Given the description of an element on the screen output the (x, y) to click on. 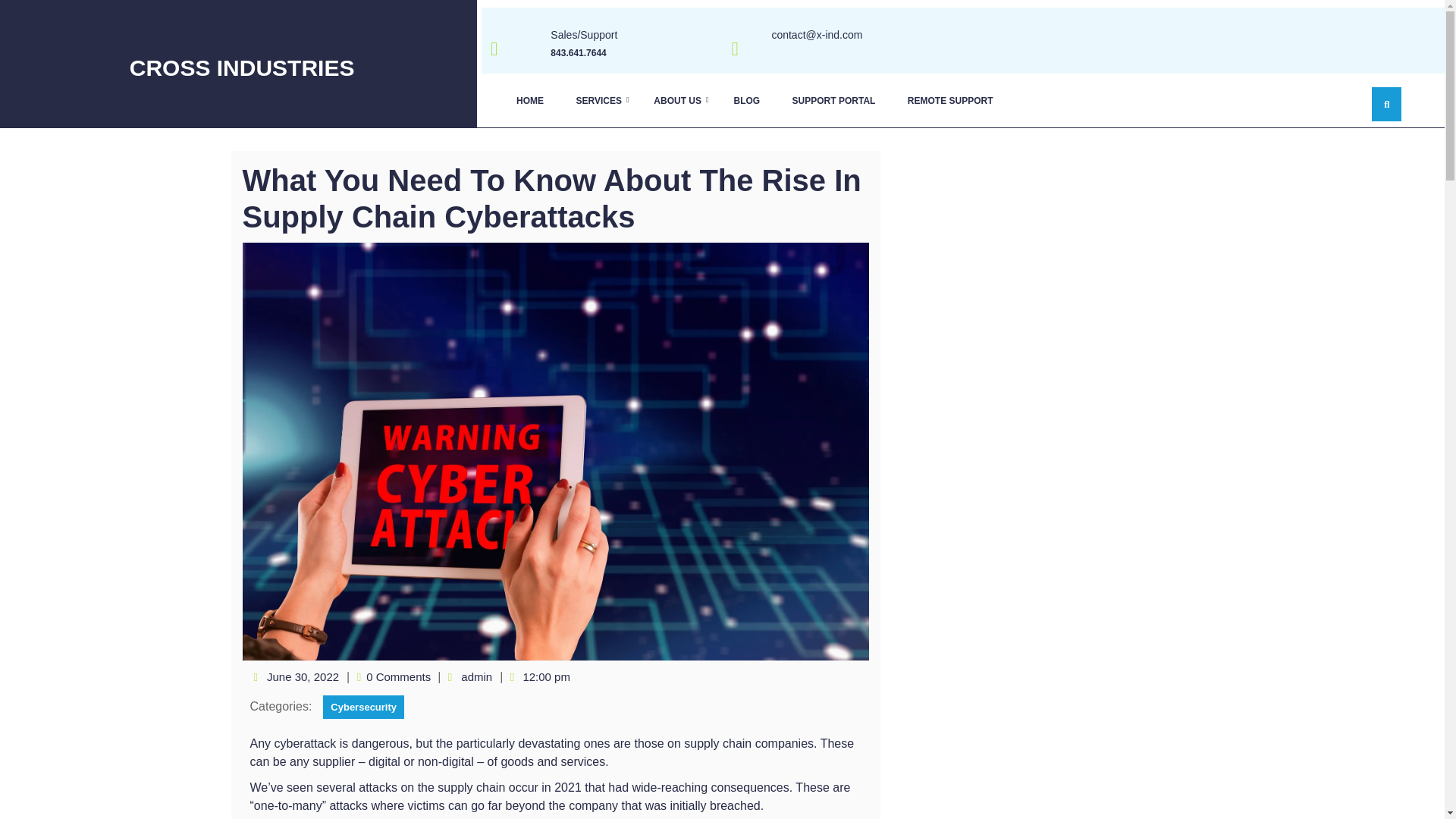
REMOTE SUPPORT (950, 100)
CROSS INDUSTRIES (242, 66)
SUPPORT PORTAL (833, 100)
June 30, 2022 (302, 676)
BLOG (746, 100)
HOME (529, 100)
ABOUT US (677, 100)
843.641.7644 (577, 52)
admin (476, 676)
Search (1158, 77)
SERVICES (597, 100)
Cybersecurity (363, 707)
